Given the description of an element on the screen output the (x, y) to click on. 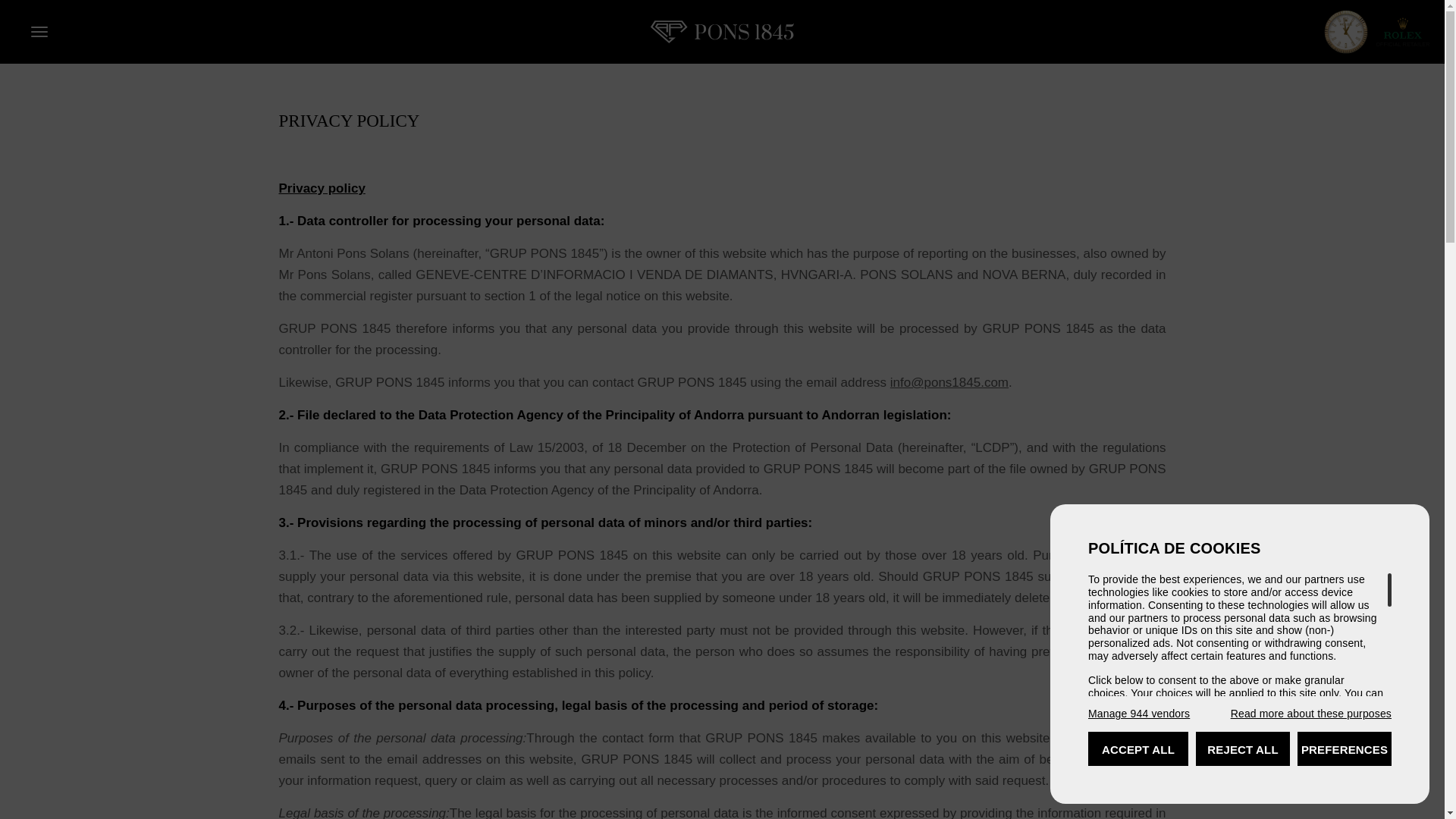
ROLEX (1377, 31)
Pons 1845 (722, 31)
REJECT ALL (1242, 748)
Legal warning (1289, 768)
Privacy Policy (1196, 768)
PREFERENCES (1344, 748)
Cookies policy (1122, 768)
Read more about these purposes (1310, 713)
Manage 944 vendors (1138, 713)
ACCEPT ALL (1137, 748)
